Given the description of an element on the screen output the (x, y) to click on. 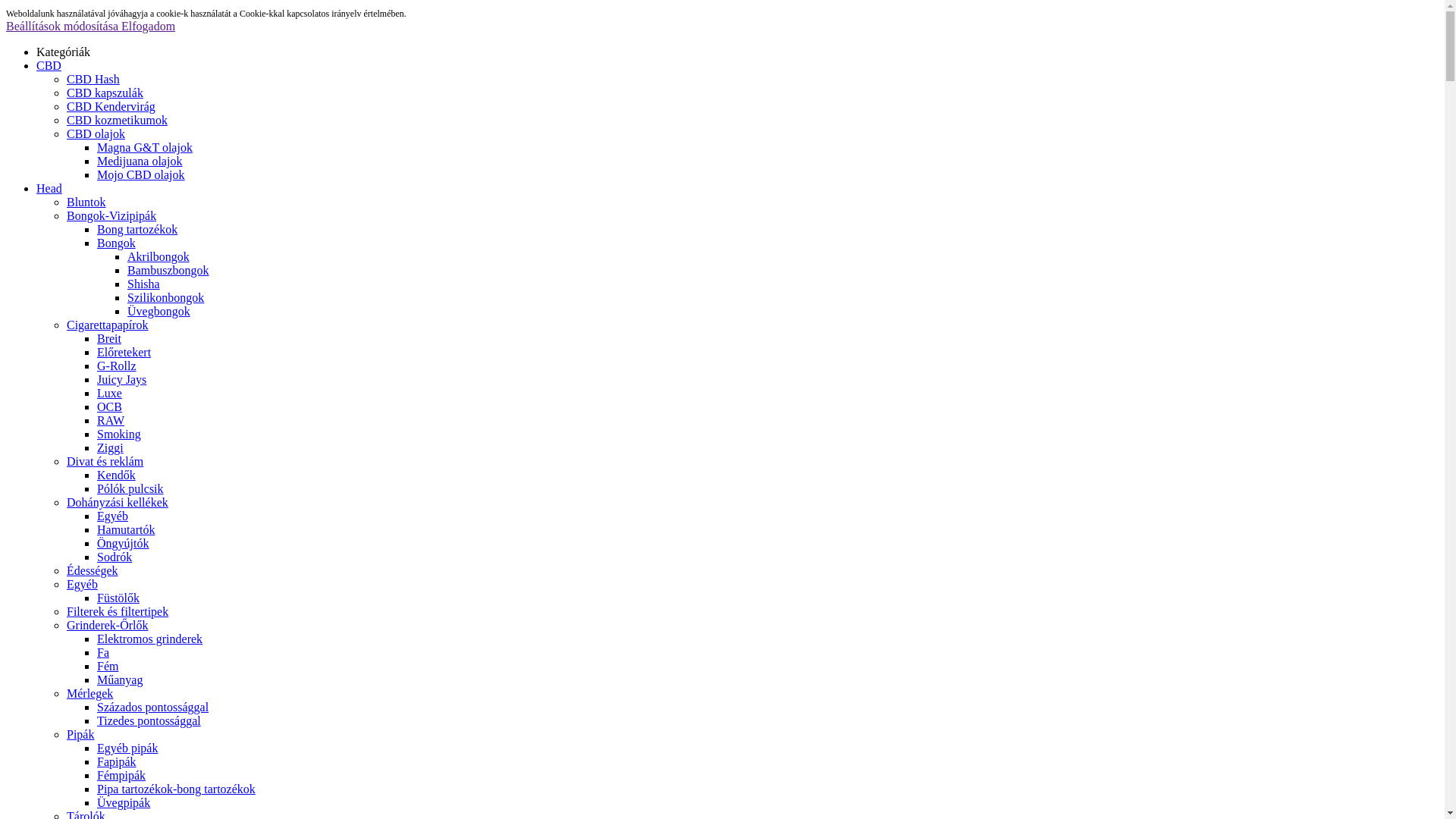
Luxe Element type: text (109, 392)
Shisha Element type: text (143, 283)
CBD kozmetikumok Element type: text (116, 119)
Magna G&T olajok Element type: text (144, 147)
Ziggi Element type: text (110, 447)
CBD Hash Element type: text (92, 78)
Akrilbongok Element type: text (158, 256)
Bambuszbongok Element type: text (168, 269)
Elfogadom Element type: text (148, 25)
Szilikonbongok Element type: text (165, 297)
Juicy Jays Element type: text (121, 379)
RAW Element type: text (110, 420)
Bluntok Element type: text (86, 201)
Bongok Element type: text (116, 242)
CBD Element type: text (737, 65)
CBD olajok Element type: text (95, 133)
Smoking Element type: text (119, 433)
Elektromos grinderek Element type: text (149, 638)
OCB Element type: text (109, 406)
Medijuana olajok Element type: text (139, 160)
Fa Element type: text (103, 652)
Head Element type: text (737, 188)
G-Rollz Element type: text (116, 365)
Mojo CBD olajok Element type: text (141, 174)
Breit Element type: text (109, 338)
